Given the description of an element on the screen output the (x, y) to click on. 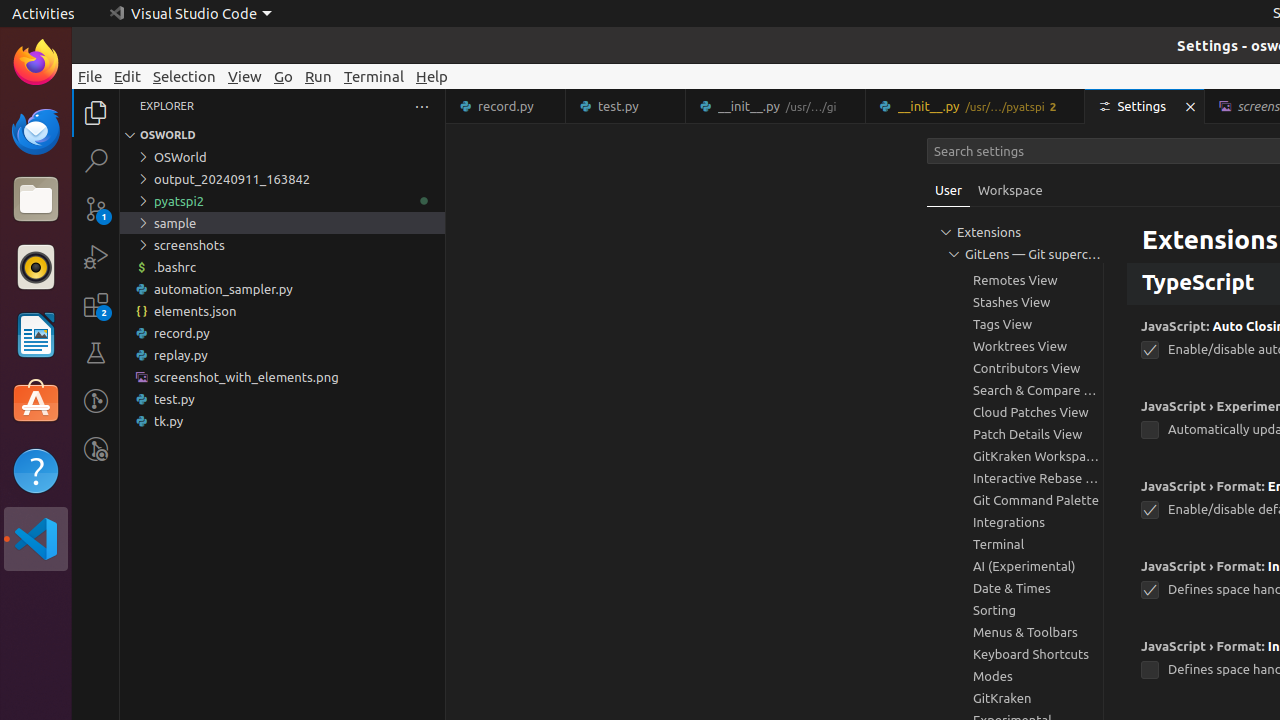
Search & Compare View, group Element type: tree-item (1015, 390)
Branches View, group Element type: tree-item (1015, 258)
Keyboard Shortcuts, group Element type: tree-item (1015, 654)
Integrations, group Element type: tree-item (1015, 522)
Patch Details View, group Element type: tree-item (1015, 434)
